Given the description of an element on the screen output the (x, y) to click on. 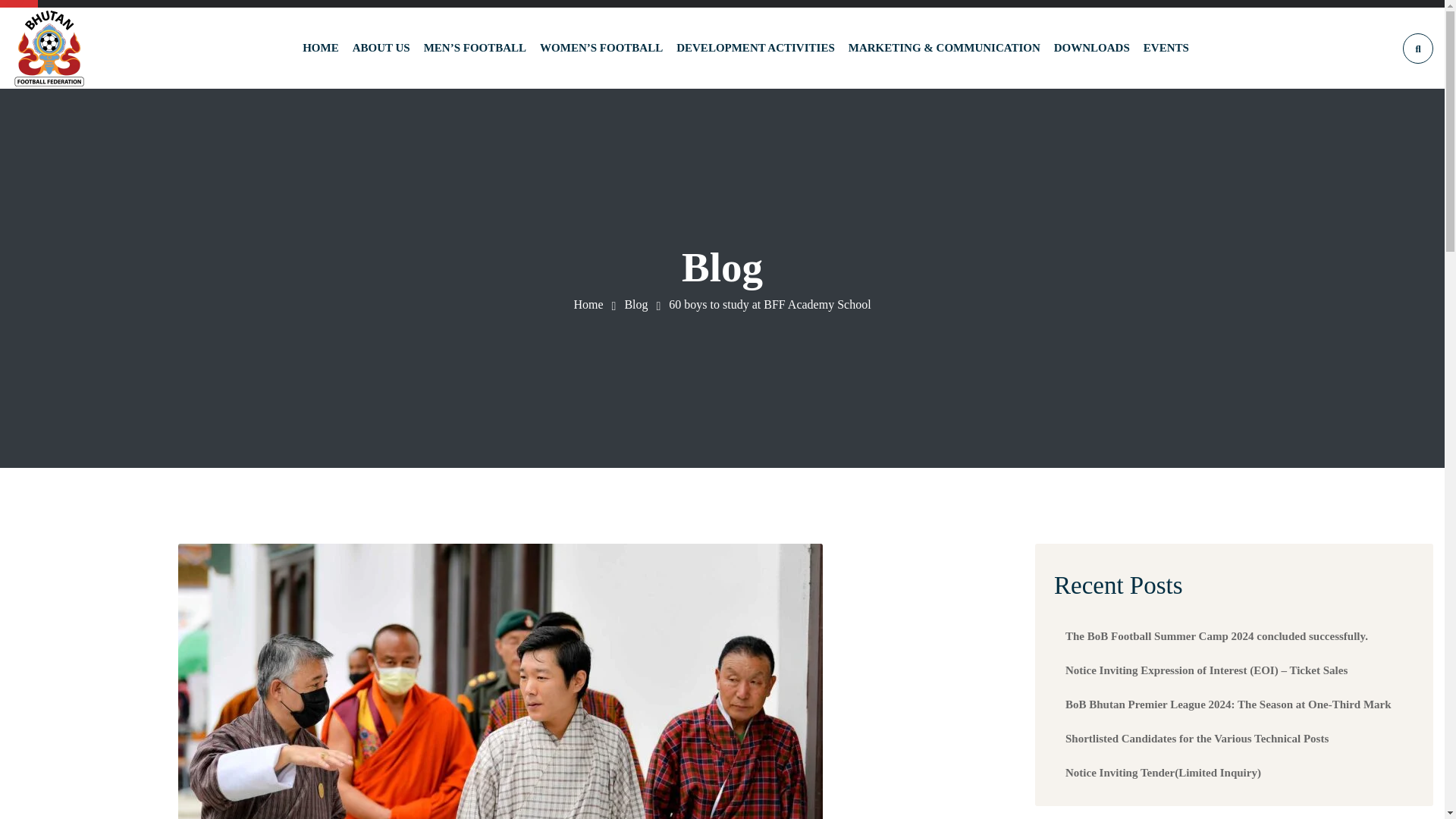
Blog (635, 304)
BHUTAN FOOTBALL FEDERATION (587, 304)
HOME (320, 47)
DOWNLOADS (1091, 47)
BHUTAN FOOTBALL FEDERATION (49, 48)
EVENTS (1165, 47)
DEVELOPMENT ACTIVITIES (755, 47)
ABOUT US (381, 47)
